Given the description of an element on the screen output the (x, y) to click on. 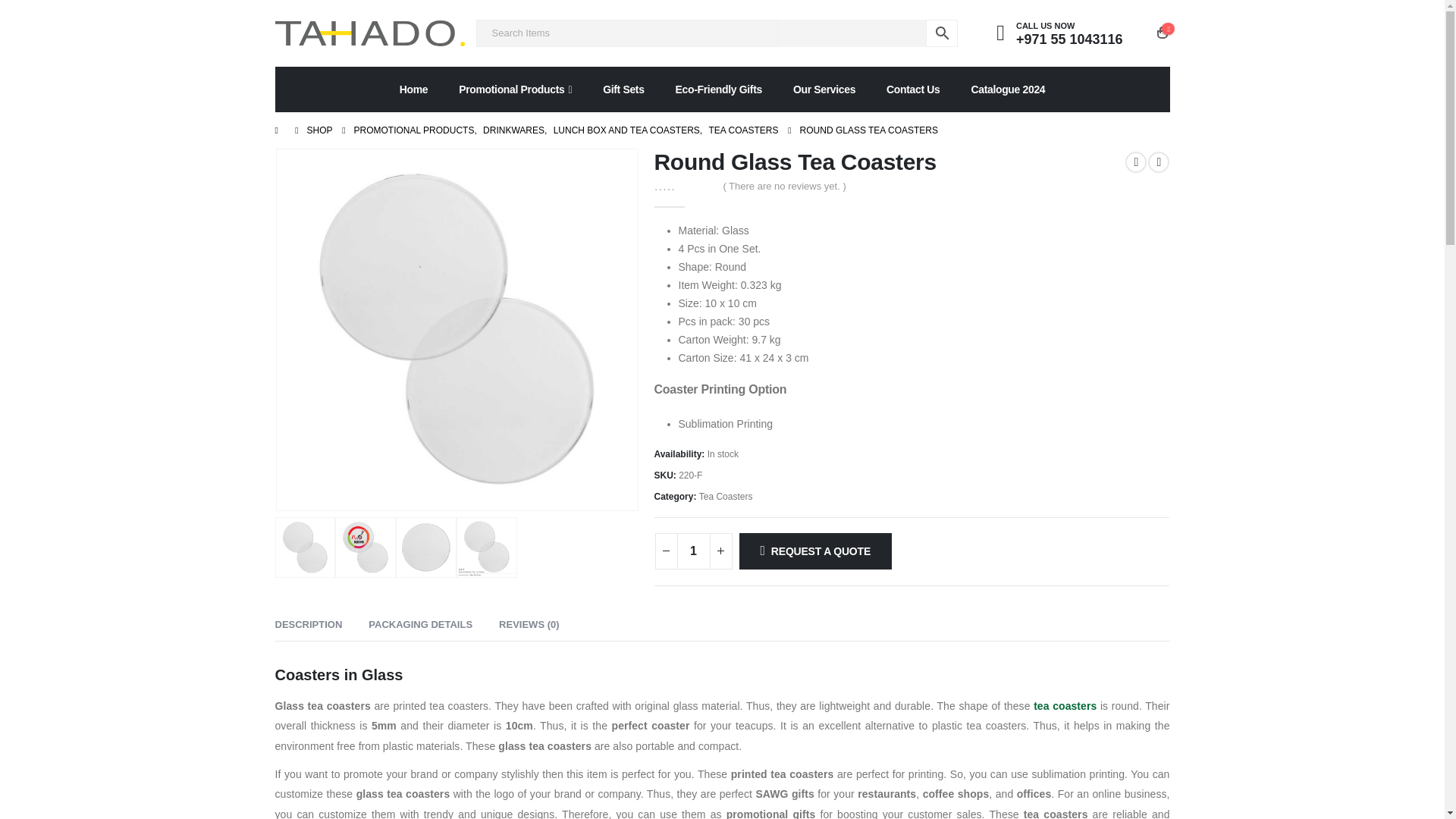
0 (683, 185)
Promotional Products (515, 89)
Home (414, 89)
1 (693, 551)
Round-Glass-Tea-Coasters-220-F-main-t.jpg (456, 329)
